Given the description of an element on the screen output the (x, y) to click on. 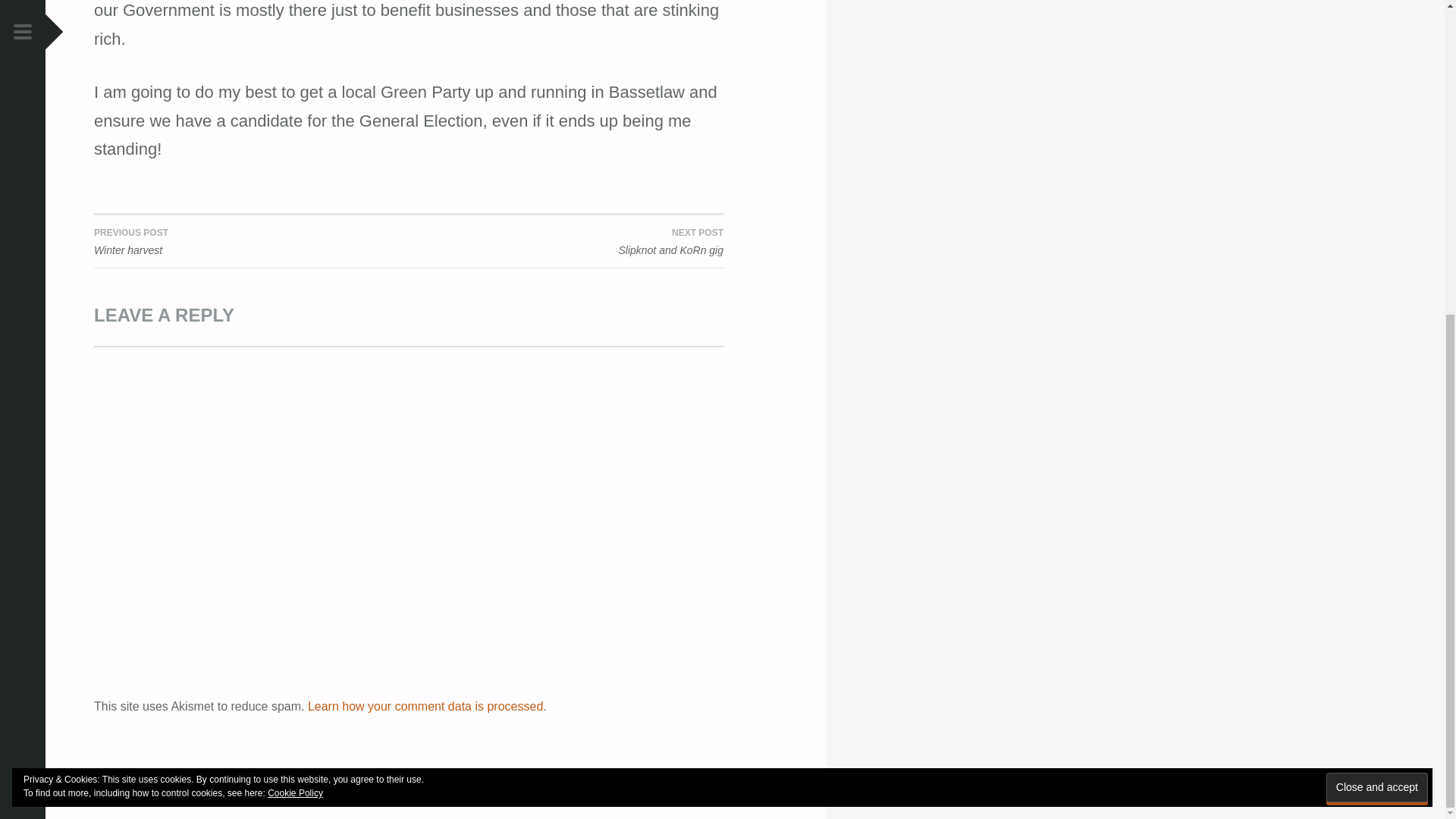
Close and accept (1377, 283)
